Given the description of an element on the screen output the (x, y) to click on. 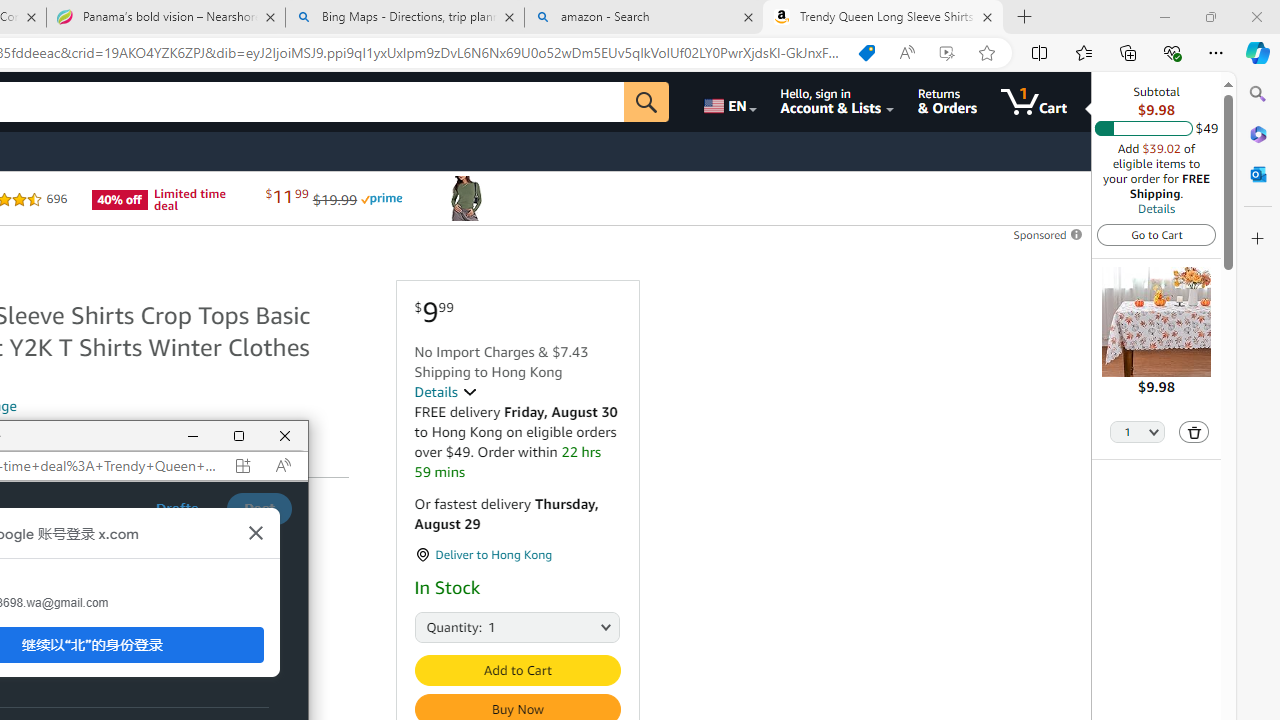
amazon - Search (643, 17)
Delete (1193, 431)
Post (258, 507)
Go (646, 101)
Enhance video (946, 53)
App available. Install X (242, 465)
Hello, sign in Account & Lists (836, 101)
